Given the description of an element on the screen output the (x, y) to click on. 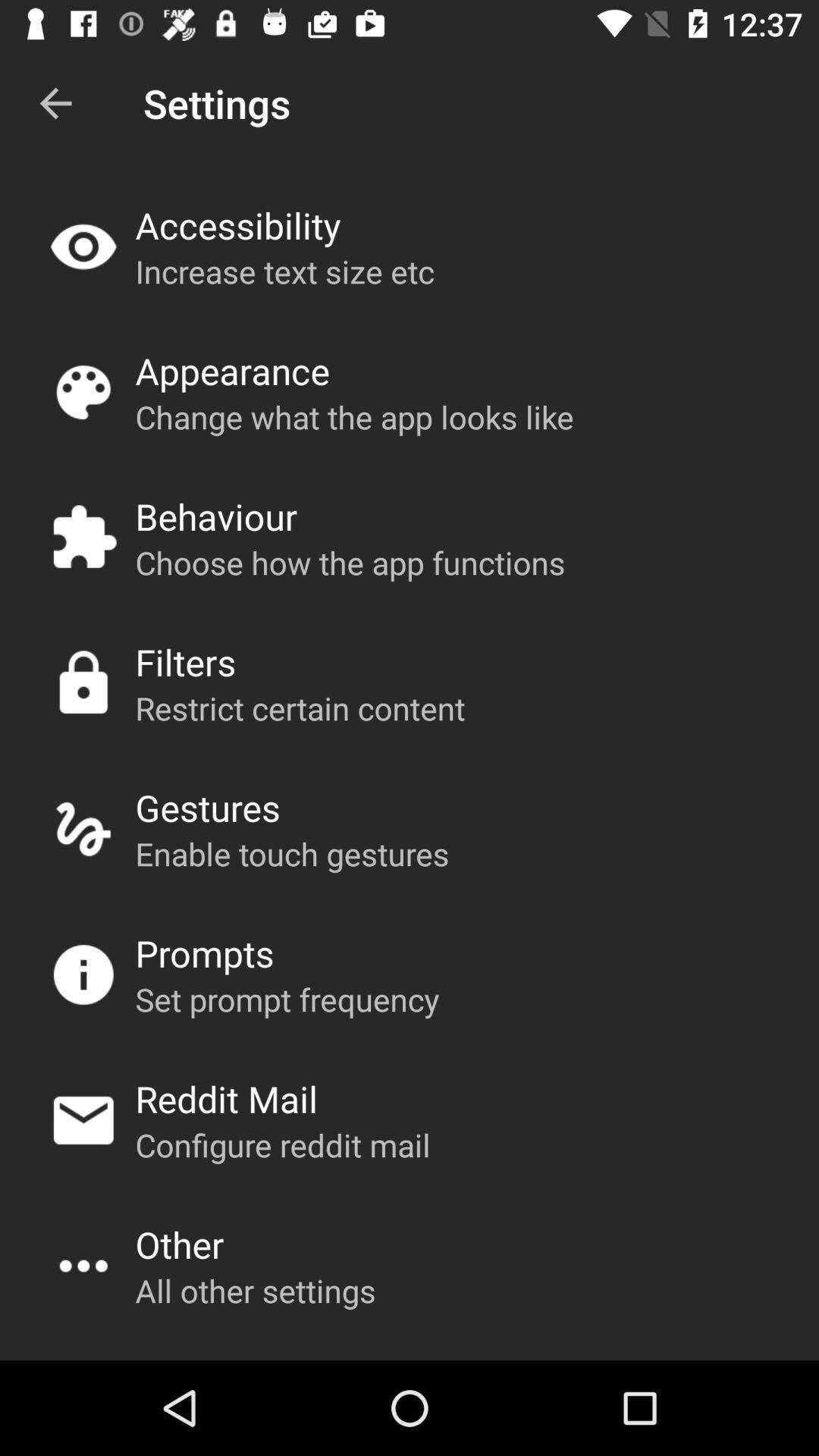
choose app below enable touch gestures item (204, 952)
